Given the description of an element on the screen output the (x, y) to click on. 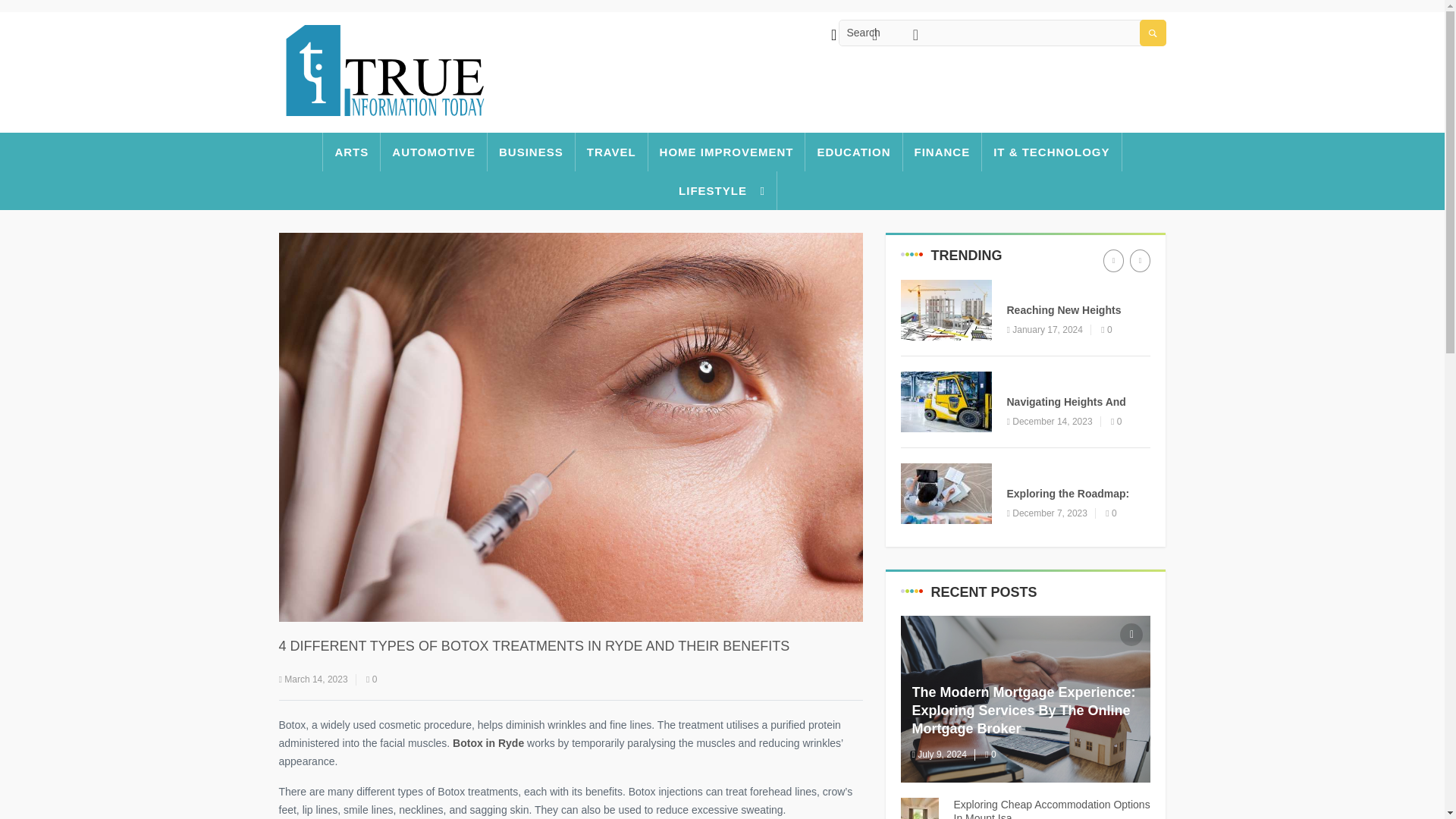
Search (1001, 32)
EDUCATION (1037, 288)
Botox in Ryde (488, 743)
ARTS (350, 151)
EDUCATION (1037, 379)
EDUCATION (853, 151)
AUTOMOTIVE (433, 151)
TRAVEL (611, 151)
HOME IMPROVEMENT (726, 151)
0 (1106, 329)
LIFESTYLE (721, 190)
FINANCE (942, 151)
0 (1115, 421)
